Given the description of an element on the screen output the (x, y) to click on. 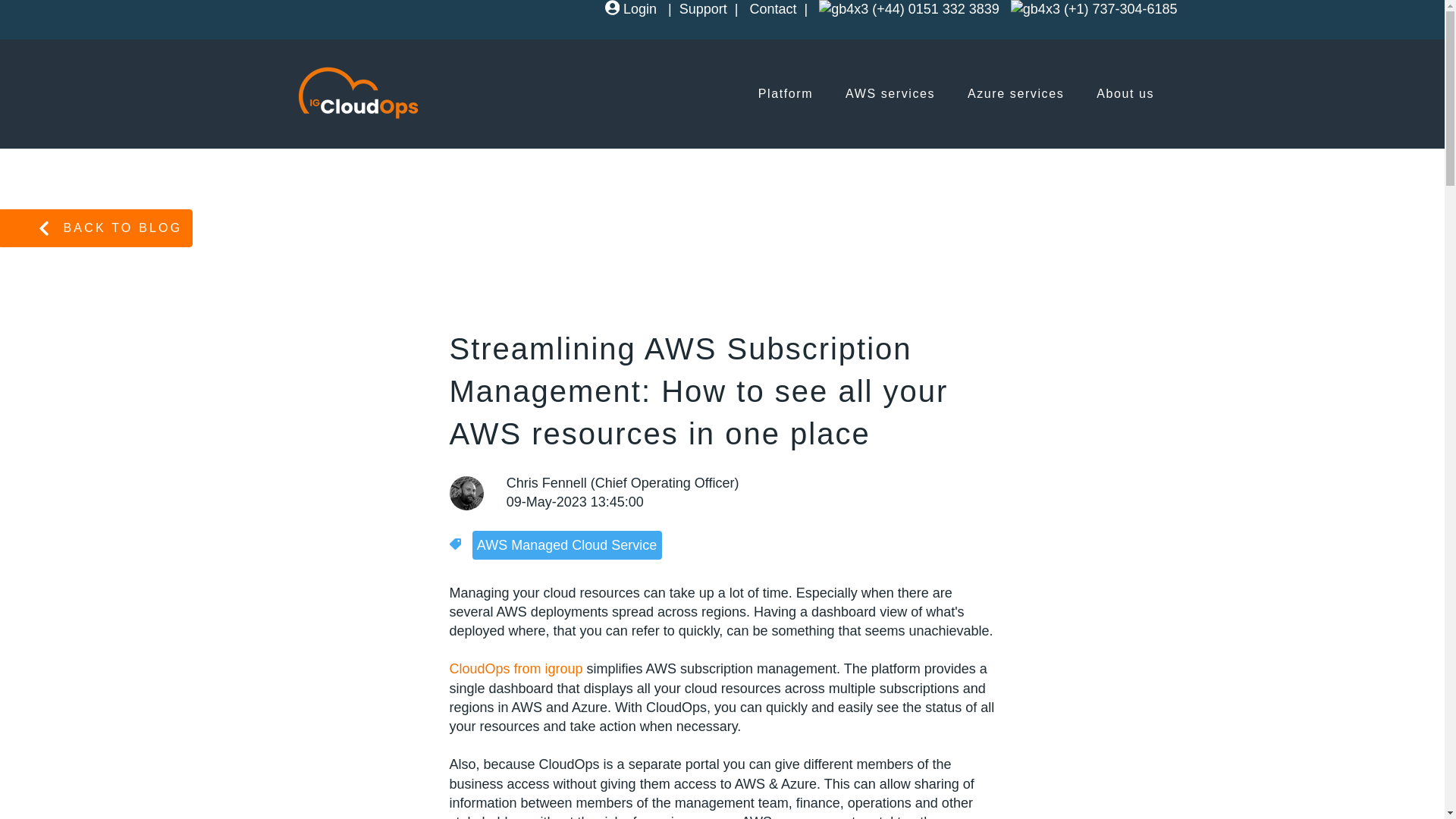
Contact (772, 8)
Login (630, 8)
AWS Managed Cloud Service (566, 544)
About us (1125, 92)
Azure services (1016, 92)
IG CloudOps logo (357, 90)
AWS services (889, 92)
BACK TO BLOG (96, 228)
Support (702, 8)
Platform (785, 92)
CloudOps from igroup (515, 668)
